Given the description of an element on the screen output the (x, y) to click on. 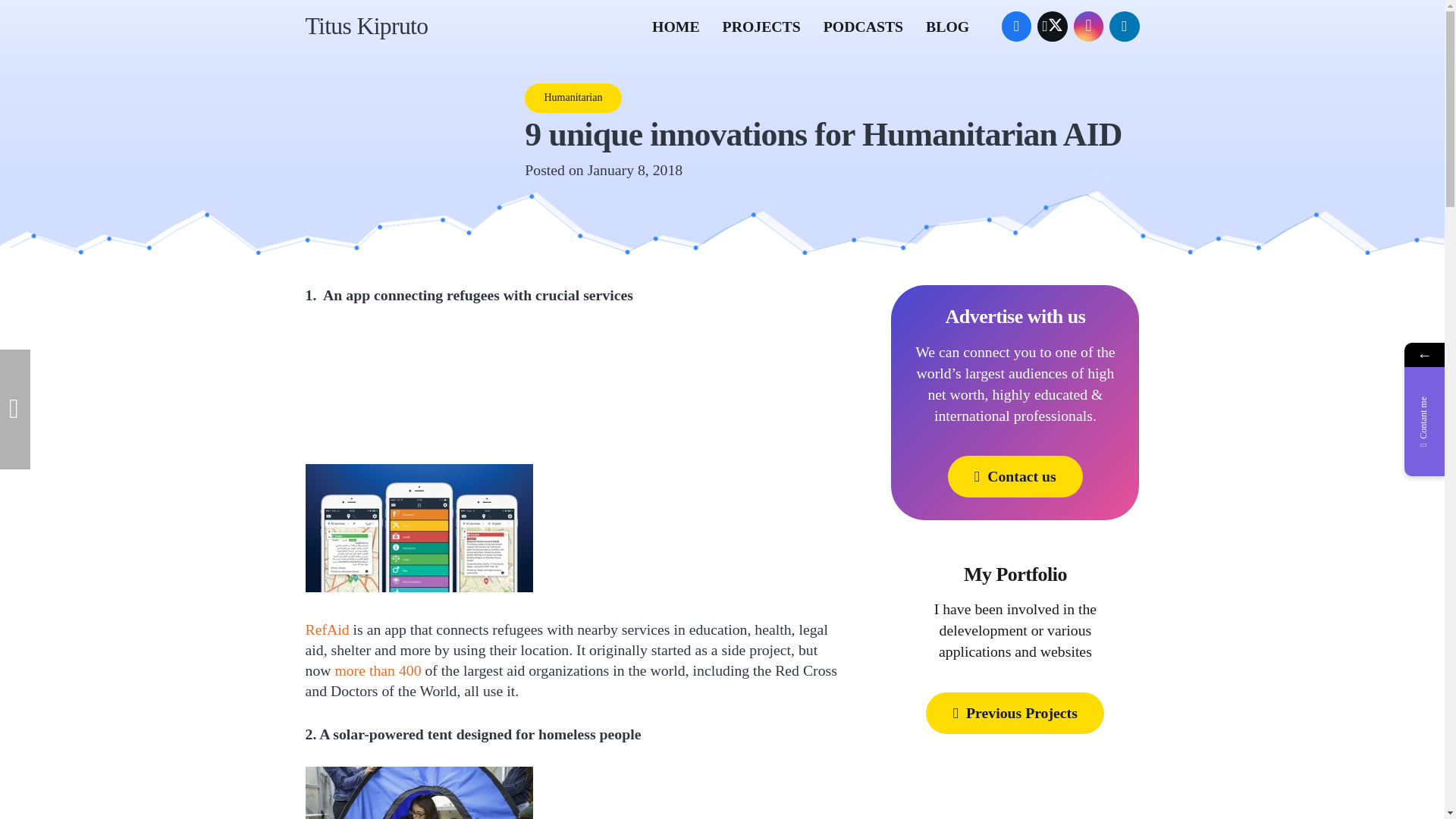
Twitter (1051, 26)
LinkedIn (1124, 26)
Previous Projects (1014, 712)
Advertisement (574, 396)
Subscribe (941, 702)
Humanitarian (572, 98)
PODCASTS (863, 26)
BLOG (946, 26)
RefAid (326, 629)
PROJECTS (761, 26)
